Given the description of an element on the screen output the (x, y) to click on. 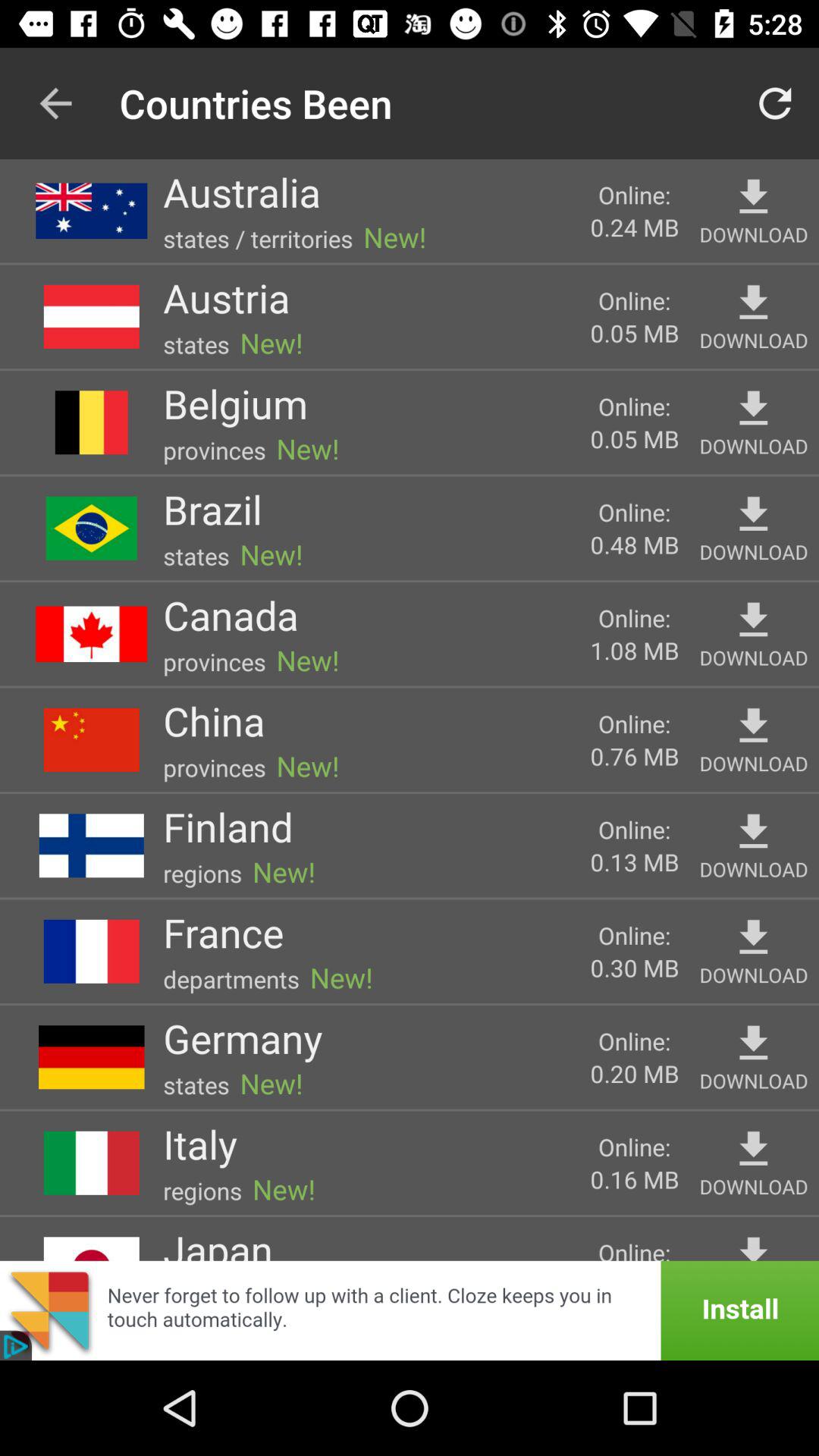
link to web page (409, 1310)
